Given the description of an element on the screen output the (x, y) to click on. 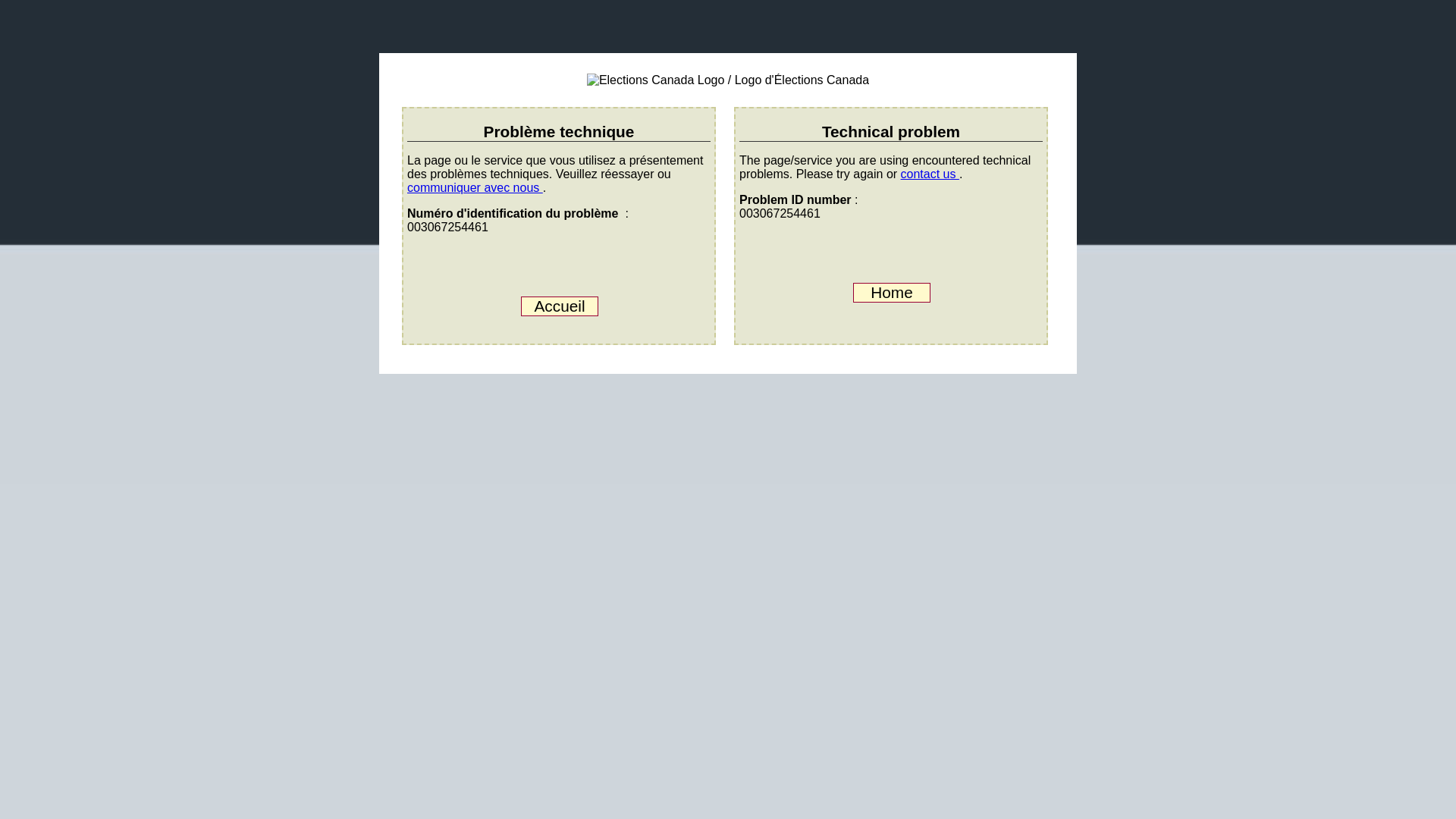
Accueil (559, 306)
contact us (930, 173)
communiquer avec nous (475, 187)
Home (891, 292)
